Given the description of an element on the screen output the (x, y) to click on. 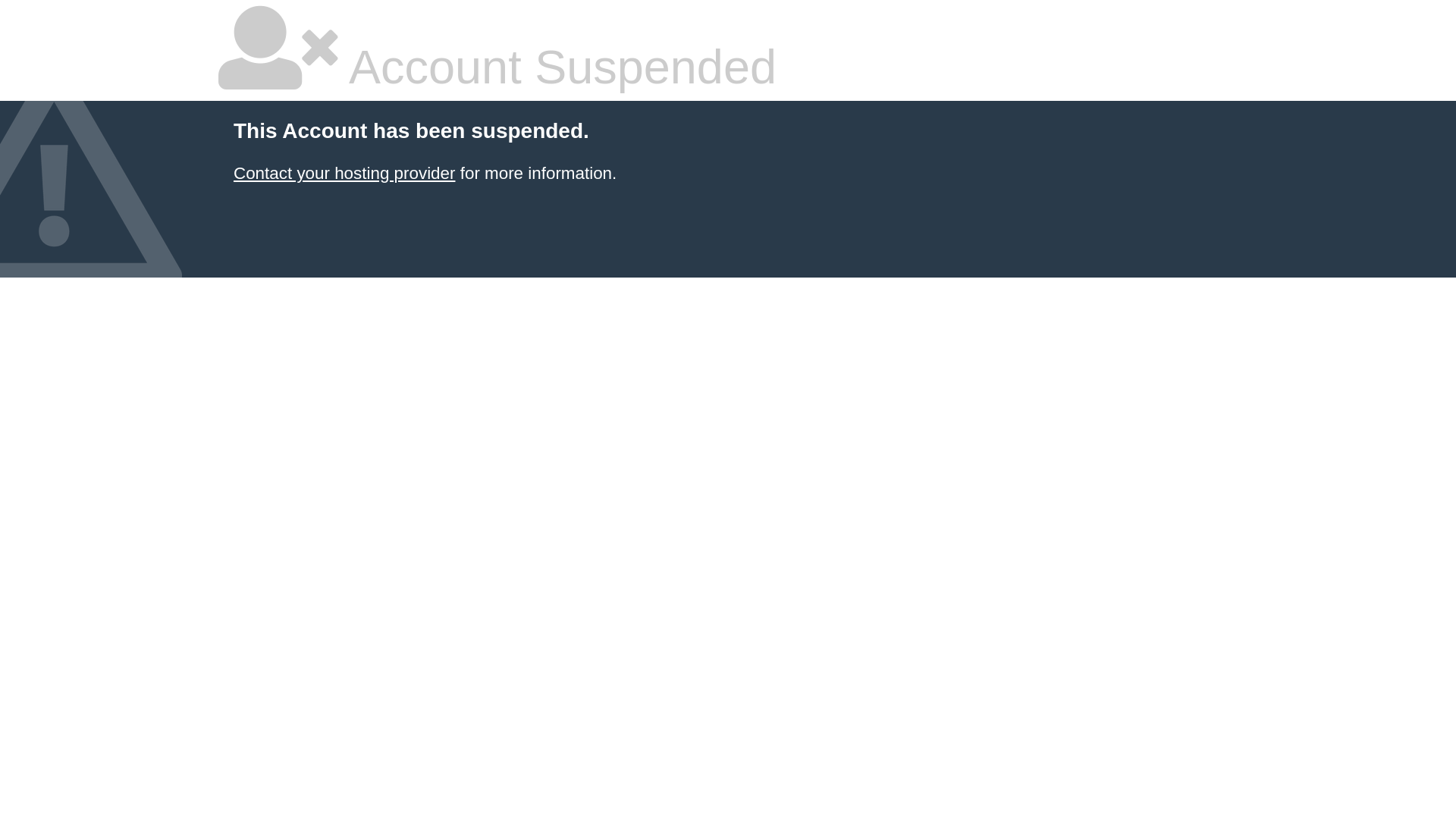
Contact your hosting provider Element type: text (344, 172)
